Given the description of an element on the screen output the (x, y) to click on. 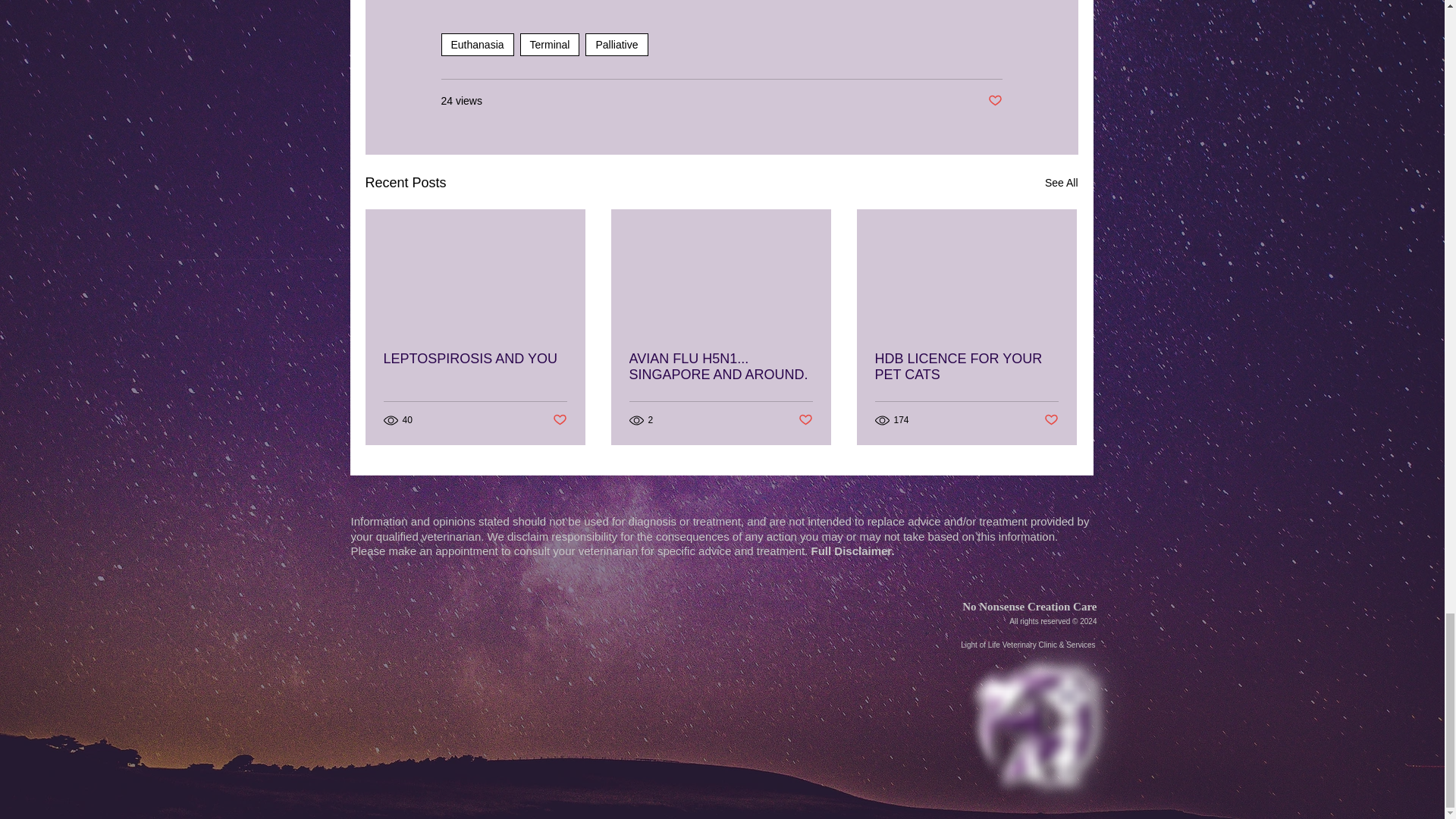
Post not marked as liked (558, 420)
Euthanasia (477, 44)
AVIAN FLU H5N1... SINGAPORE AND AROUND. (720, 367)
HDB LICENCE FOR YOUR PET CATS (966, 367)
Terminal (549, 44)
Post not marked as liked (804, 420)
Palliative (616, 44)
Post not marked as liked (1050, 420)
See All (1061, 182)
Post not marked as liked (994, 100)
